Given the description of an element on the screen output the (x, y) to click on. 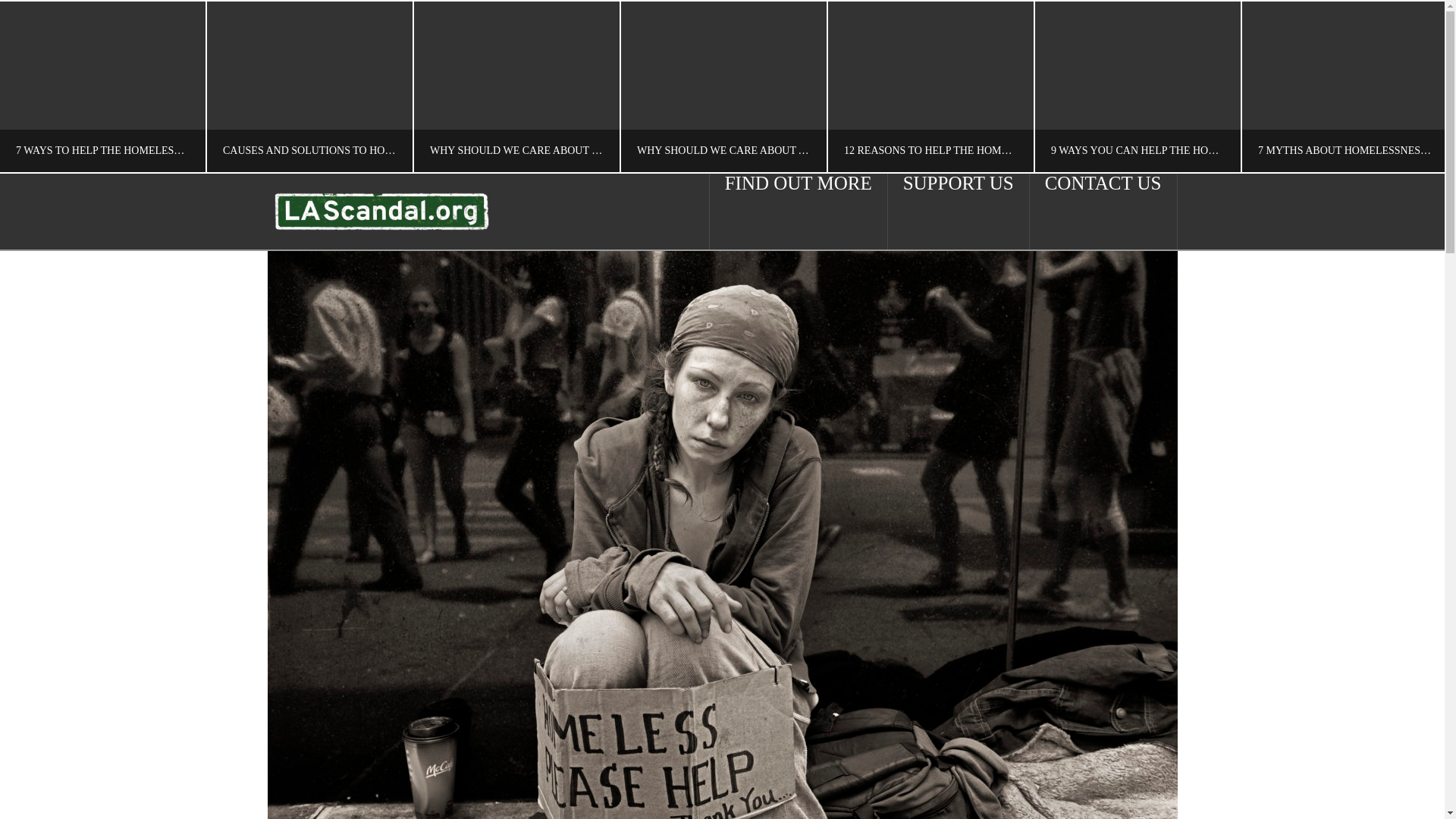
CAUSES AND SOLUTIONS TO HOMELESSNESS (308, 86)
SUPPORT US (958, 211)
WHY SHOULD WE CARE ABOUT HOUSING AND HOMELESSNESS? (516, 86)
FIND OUT MORE (798, 211)
9 WAYS YOU CAN HELP THE HOMELESS (1136, 86)
7 MYTHS ABOUT HOMELESSNESS IN LOS ANGELES (1343, 86)
CONTACT US (1103, 211)
7 WAYS TO HELP THE HOMELESS IN LOS ANGELES (102, 86)
12 REASONS TO HELP THE HOMELESS (930, 86)
